Given the description of an element on the screen output the (x, y) to click on. 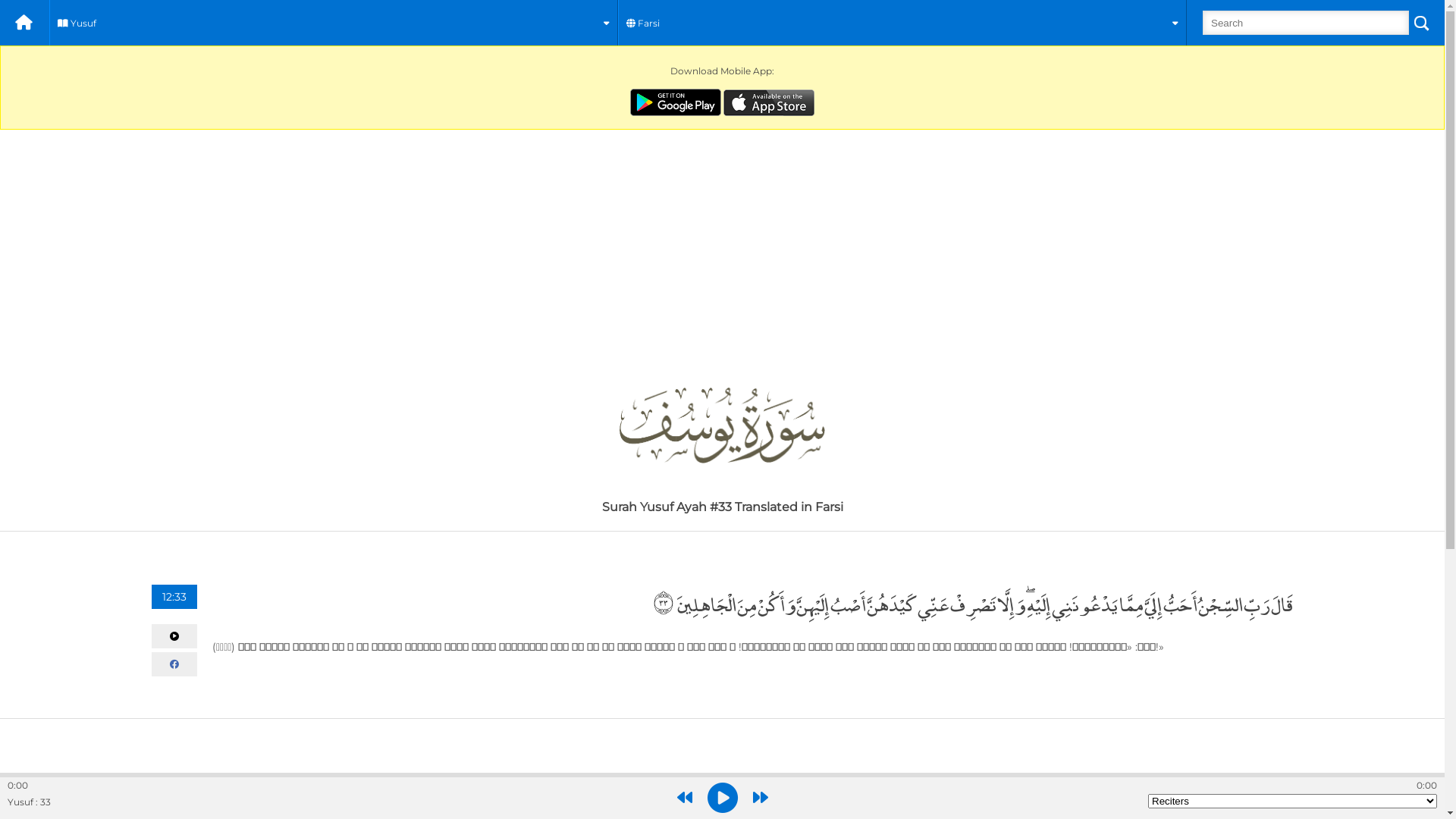
Yusuf Element type: text (333, 22)
12:33 Element type: text (174, 596)
Advertisement Element type: hover (721, 243)
Farsi Element type: text (902, 22)
